Given the description of an element on the screen output the (x, y) to click on. 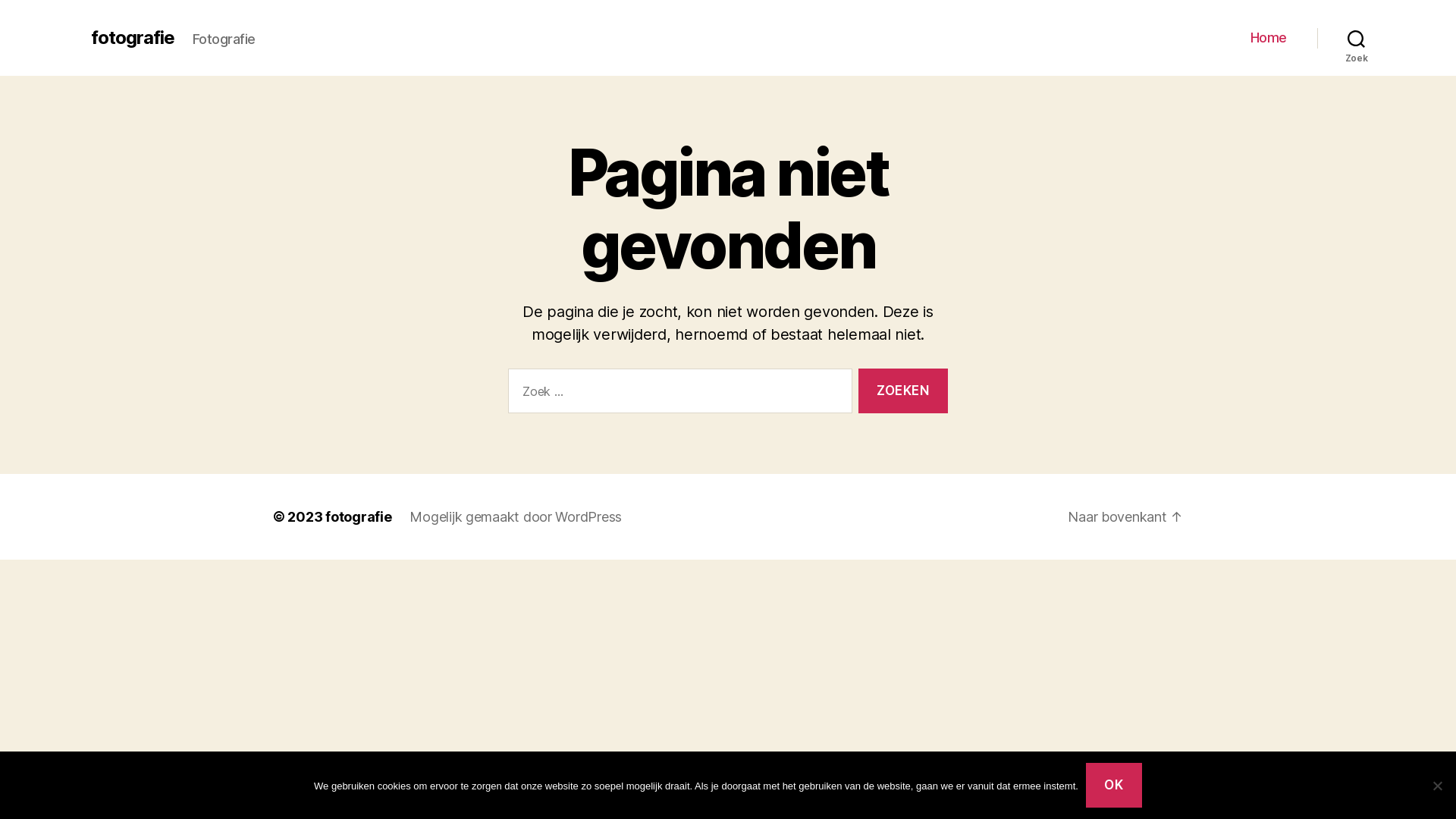
OK Element type: text (1113, 784)
Zoeken Element type: text (902, 390)
fotografie Element type: text (132, 37)
Zoek Element type: text (1356, 37)
Home Element type: text (1268, 37)
Mogelijk gemaakt door WordPress Element type: text (515, 516)
fotografie Element type: text (358, 516)
